Given the description of an element on the screen output the (x, y) to click on. 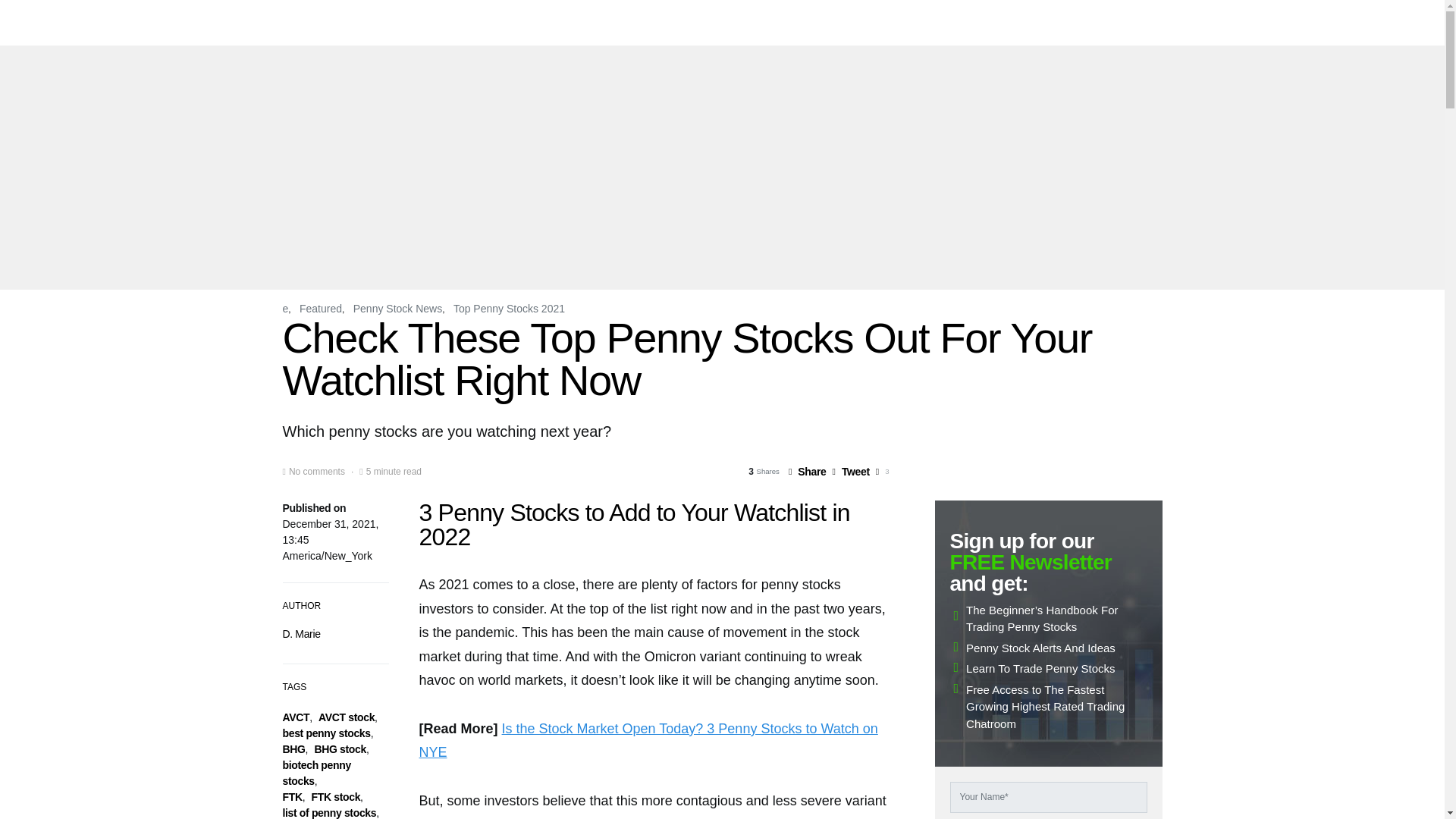
Penny Stock News (749, 22)
Penny Stock Sectors (1001, 22)
Penny Stocks for Beginners (874, 22)
List of Penny Stocks (637, 22)
